Given the description of an element on the screen output the (x, y) to click on. 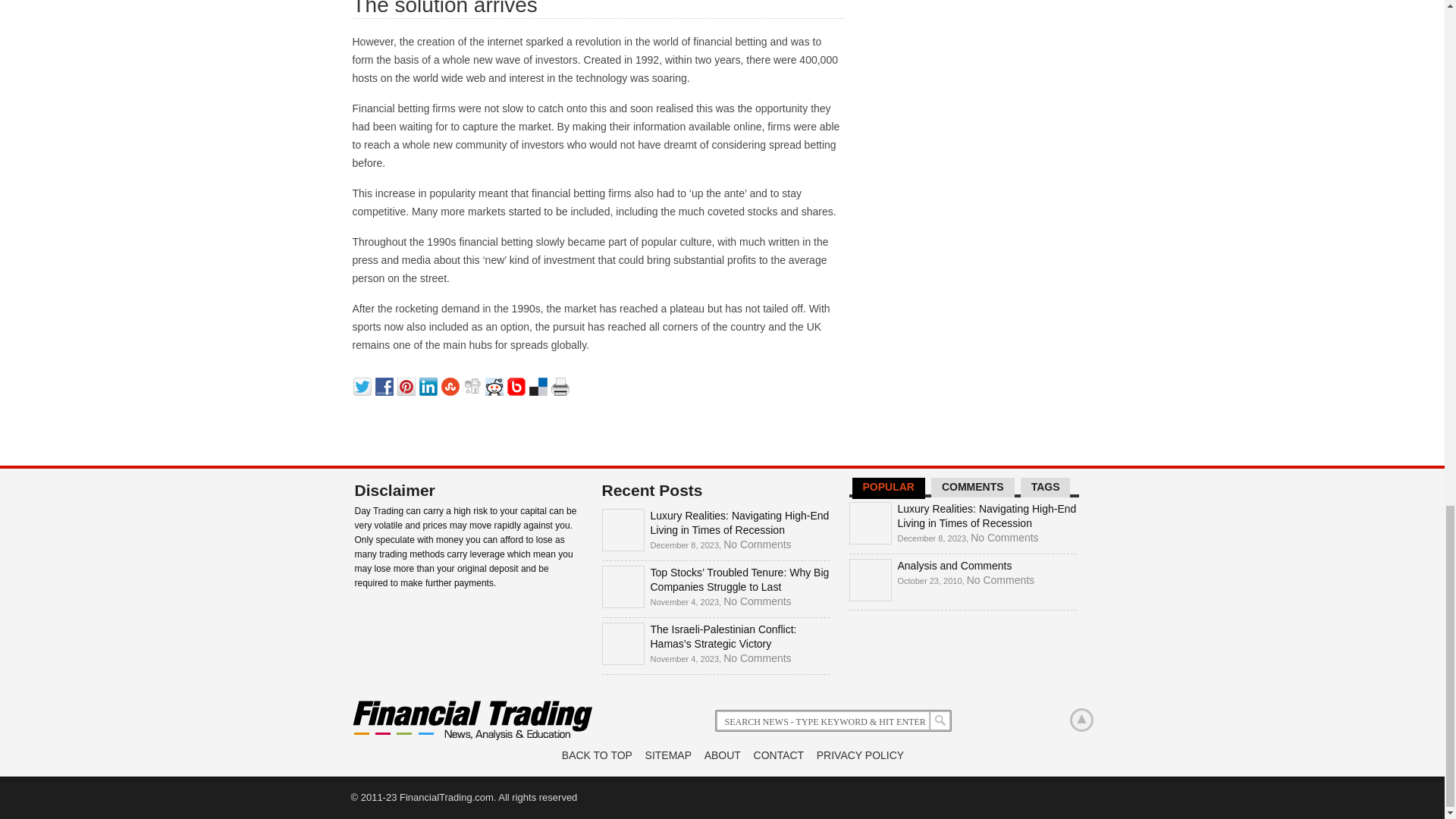
Print (561, 384)
Delicious (540, 384)
Digg (473, 384)
Twitter (364, 384)
Bebo (517, 384)
Facebook (385, 384)
Pinterest (408, 384)
Reddit (495, 384)
StumbleUpon (452, 384)
Linkedin (430, 384)
